Given the description of an element on the screen output the (x, y) to click on. 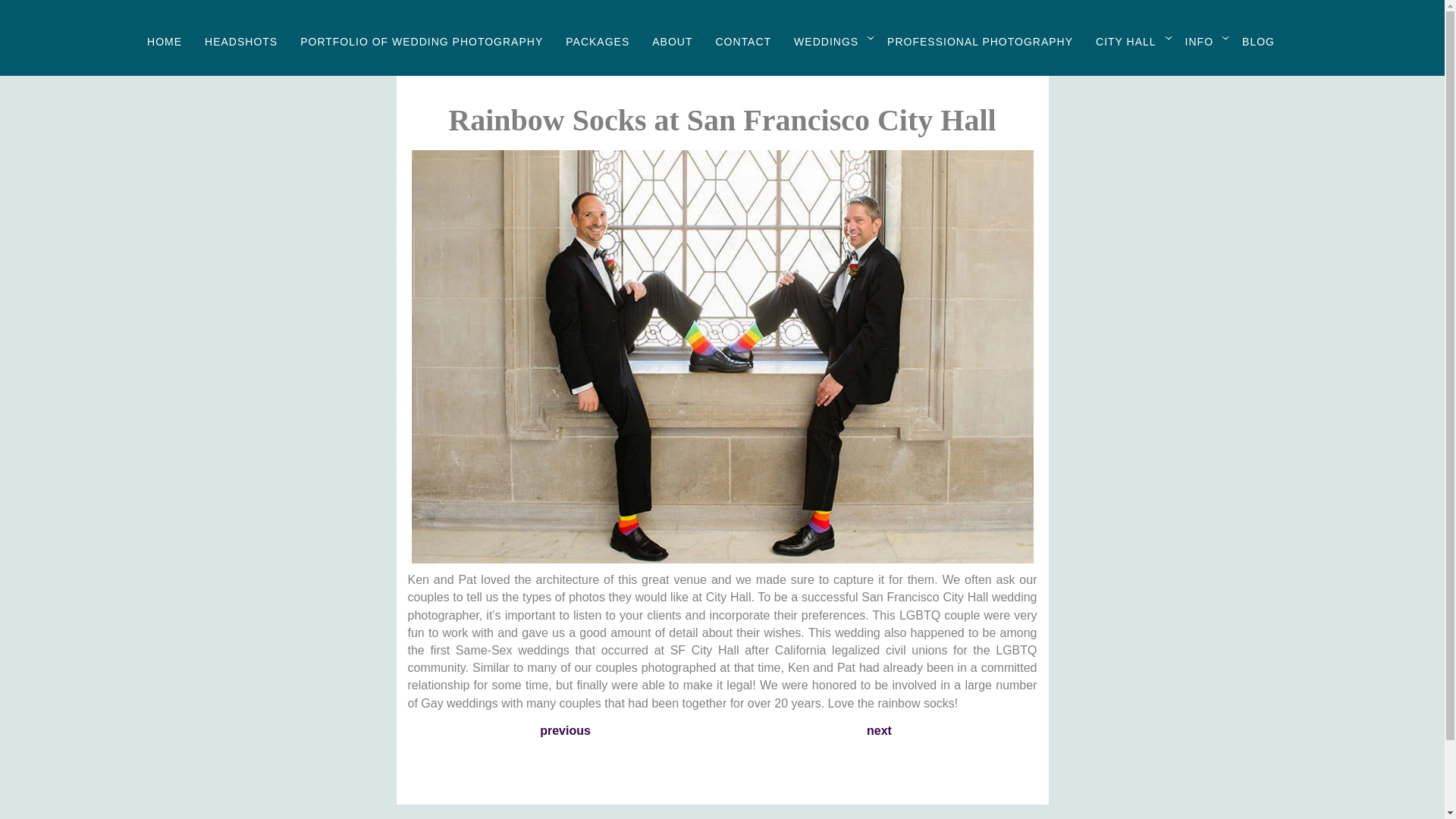
HOME (164, 41)
PORTFOLIO OF WEDDING PHOTOGRAPHY (421, 41)
ABOUT (672, 41)
PROFESSIONAL PHOTOGRAPHY (979, 41)
BLOG (1258, 41)
CONTACT (742, 41)
WEDDINGS (826, 41)
CITY HALL (1126, 41)
INFO (1198, 41)
PACKAGES (597, 41)
HEADSHOTS (241, 41)
